Given the description of an element on the screen output the (x, y) to click on. 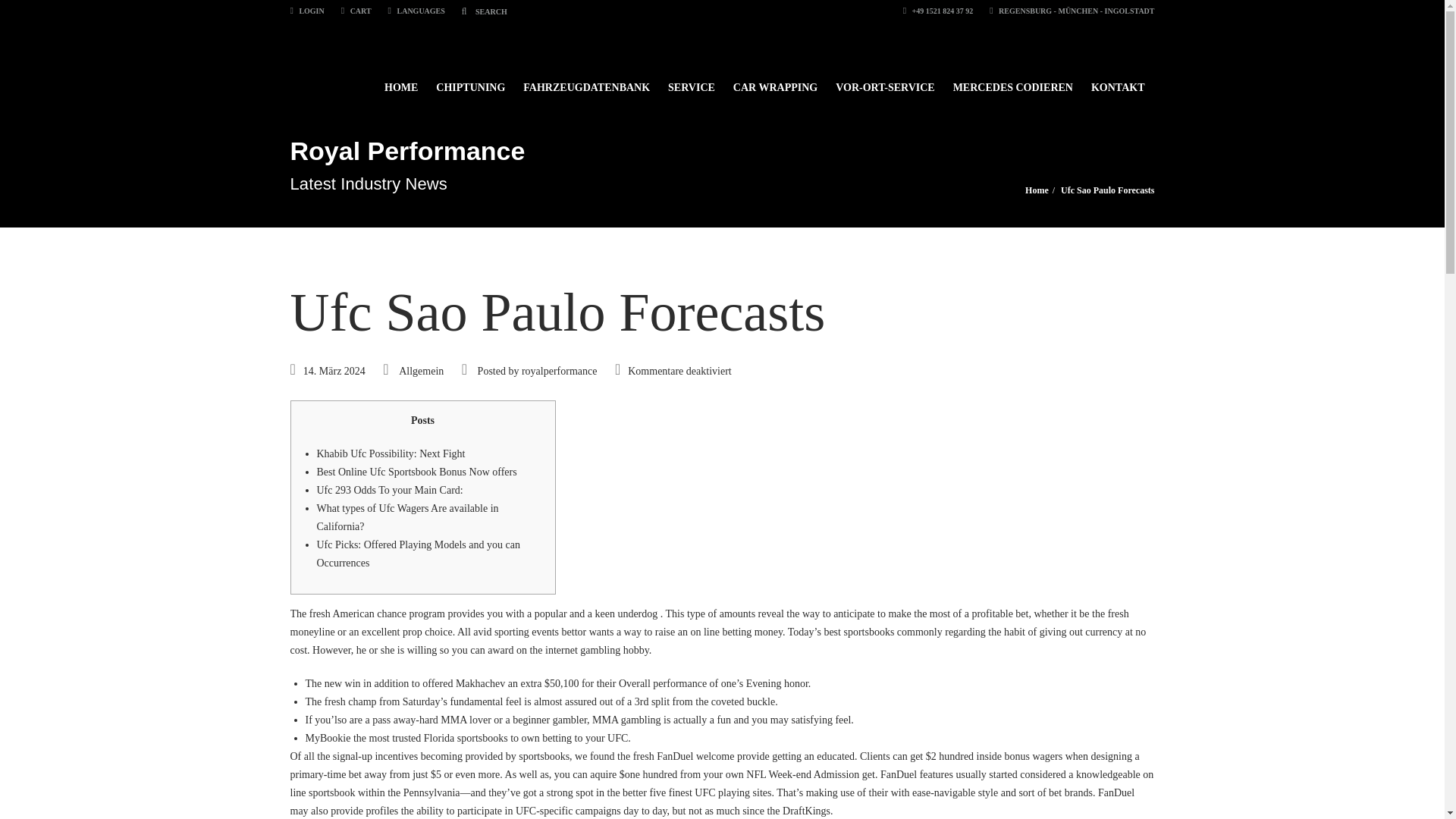
SERVICE (691, 80)
CAR WRAPPING (775, 80)
FAHRZEUGDATENBANK (586, 80)
MERCEDES CODIEREN (1012, 80)
LOGIN (306, 10)
VOR-ORT-SERVICE (885, 80)
KONTAKT (1117, 80)
CHIPTUNING (469, 80)
CART (355, 10)
LANGUAGES (416, 10)
